Given the description of an element on the screen output the (x, y) to click on. 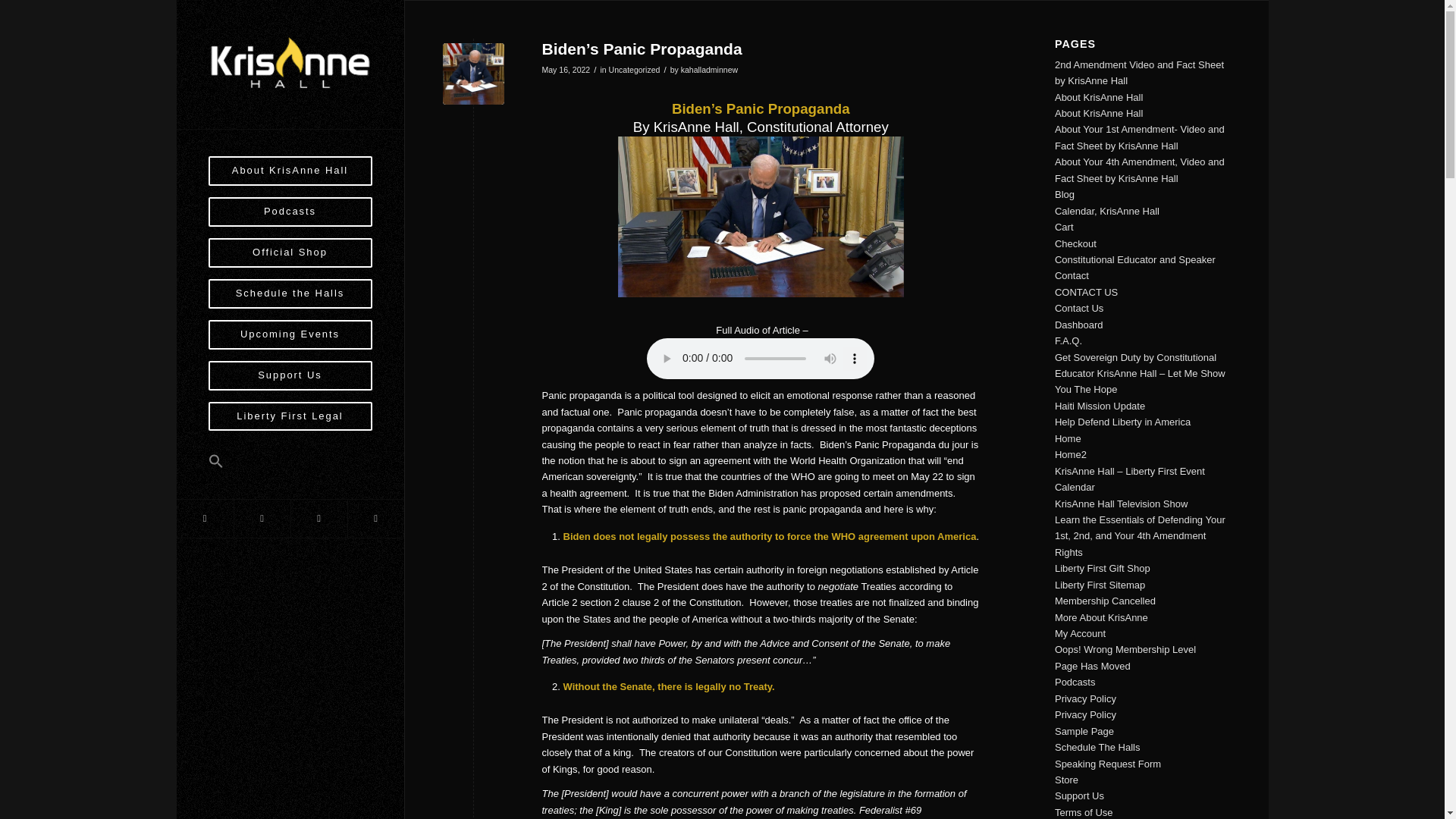
Instagram (317, 518)
biden executive order (472, 73)
Upcoming Events (290, 340)
About KrisAnne Hall (290, 170)
Facebook (204, 518)
Cart (1064, 226)
Official Shop (290, 258)
Home2 (1070, 454)
Liberty First Legal (290, 422)
Podcasts (290, 217)
